Given the description of an element on the screen output the (x, y) to click on. 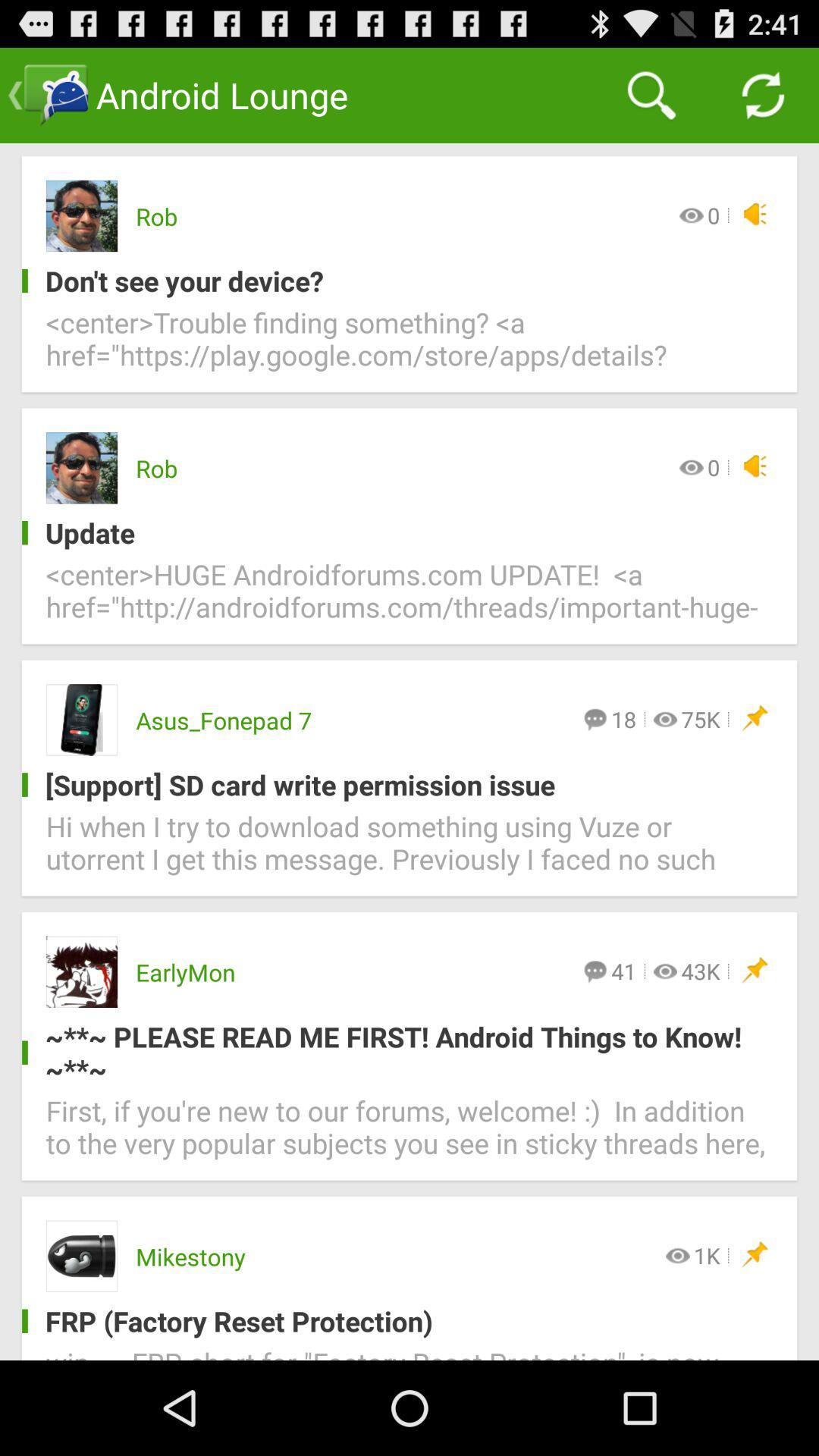
turn off the 75k icon (700, 719)
